Given the description of an element on the screen output the (x, y) to click on. 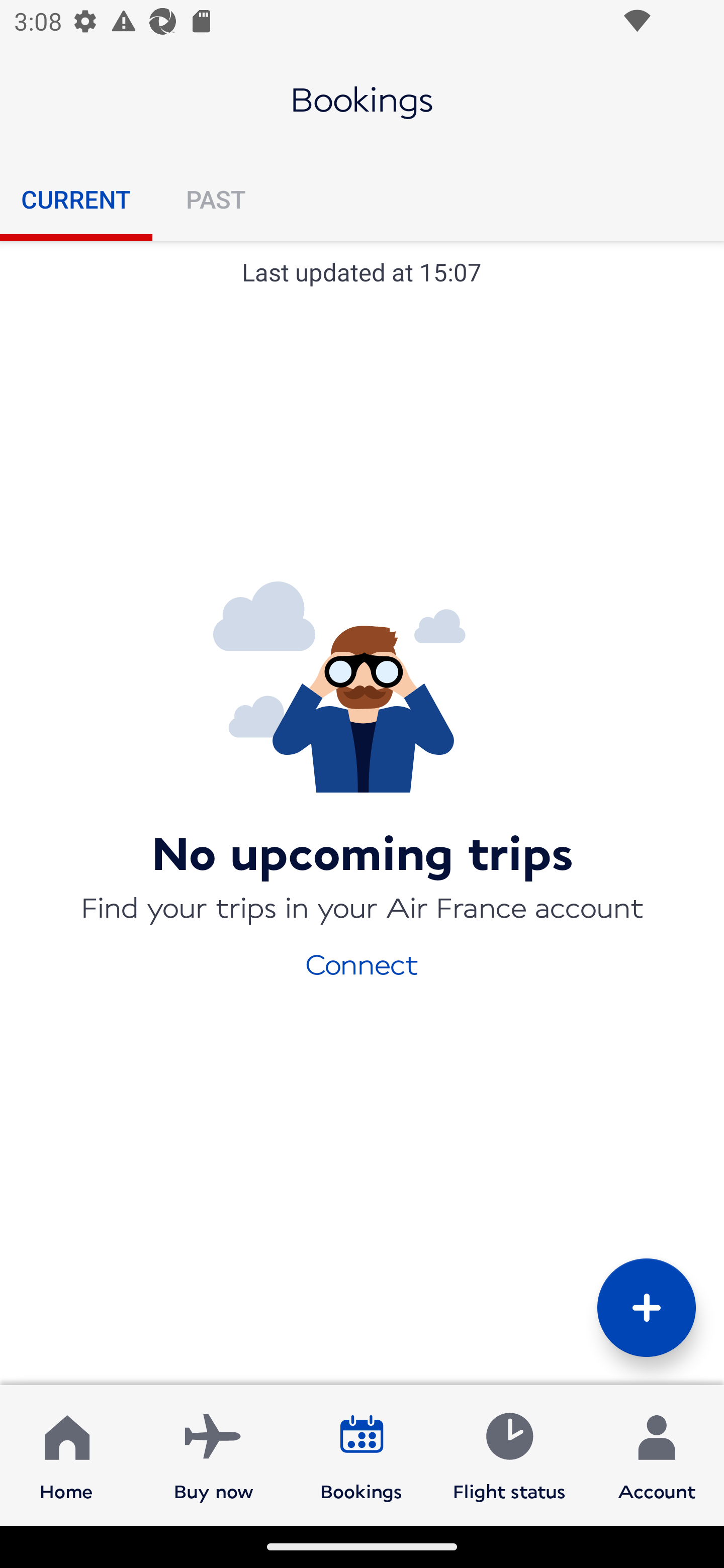
PAST (215, 198)
Connect (361, 963)
Home (66, 1454)
Buy now (213, 1454)
Flight status (509, 1454)
Account (657, 1454)
